Given the description of an element on the screen output the (x, y) to click on. 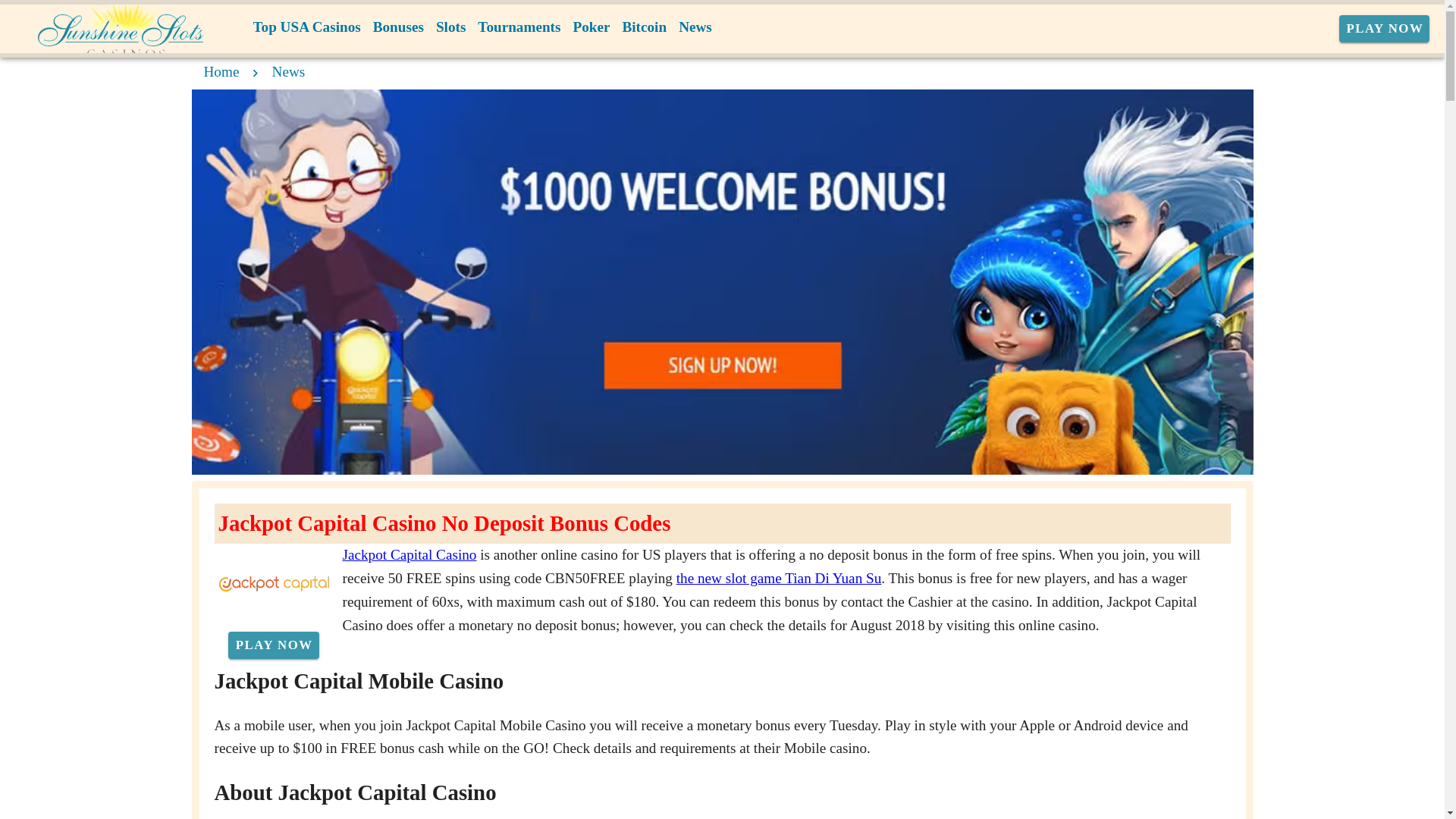
Poker (590, 27)
News (694, 27)
Bonuses (397, 27)
Home (220, 71)
News (288, 71)
Tournaments (518, 27)
Bitcoin (643, 27)
Jackpot Capital Casino (409, 554)
Top USA Casinos (306, 27)
PLAY NOW (273, 645)
the new slot game Tian Di Yuan Su (779, 578)
PLAY NOW (1384, 28)
Slots (450, 27)
